Given the description of an element on the screen output the (x, y) to click on. 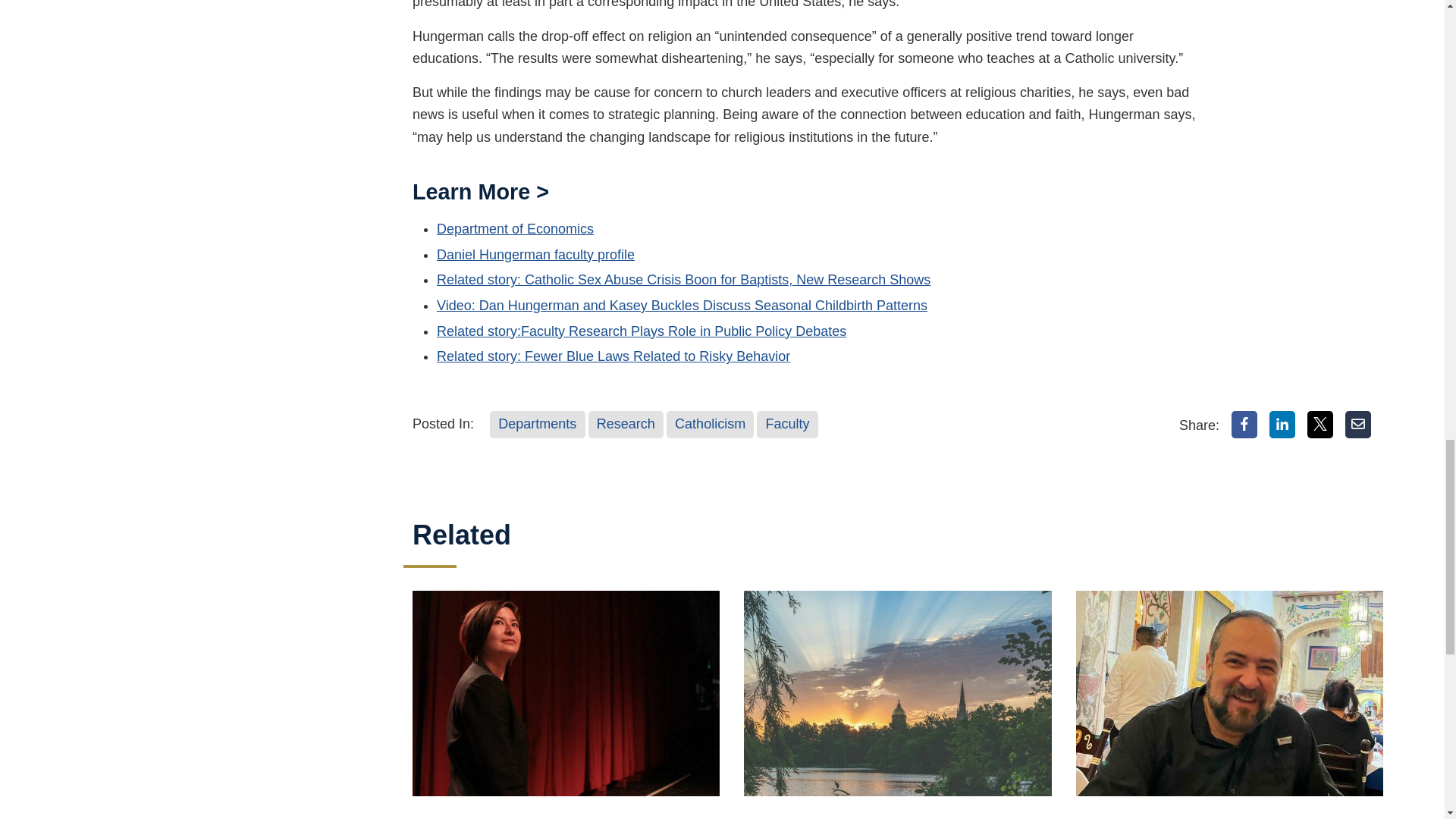
LinkedIn (1282, 424)
Facebook (1244, 424)
Email (1358, 424)
